Given the description of an element on the screen output the (x, y) to click on. 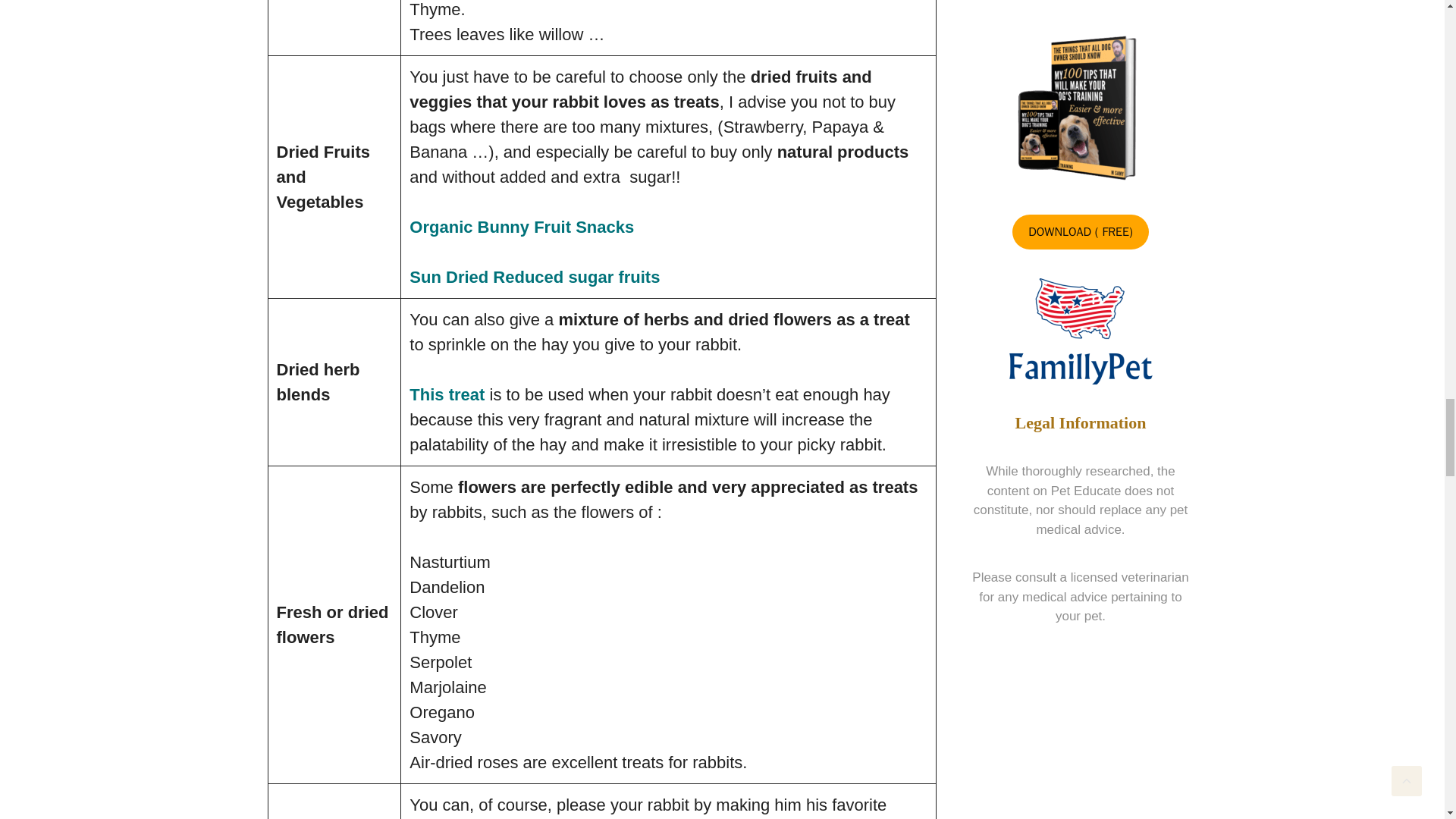
Sun Dried Reduced sugar fruits (534, 276)
Organic Bunny Fruit Snacks (521, 226)
This treat (446, 394)
